Given the description of an element on the screen output the (x, y) to click on. 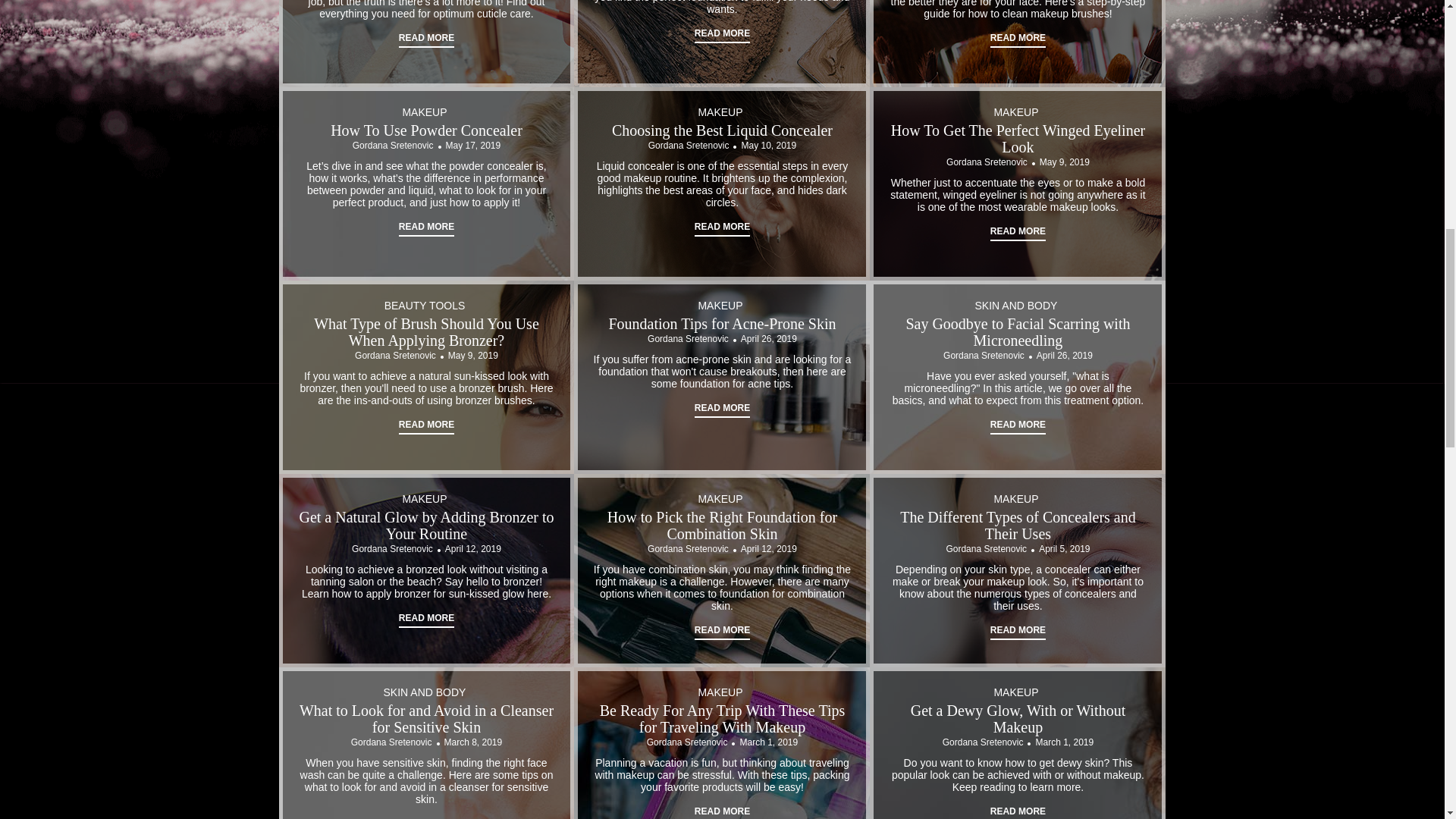
BEAUTY TOOLS (424, 305)
MAKEUP (719, 305)
MAKEUP (423, 111)
MAKEUP (719, 111)
MAKEUP (1015, 111)
